Given the description of an element on the screen output the (x, y) to click on. 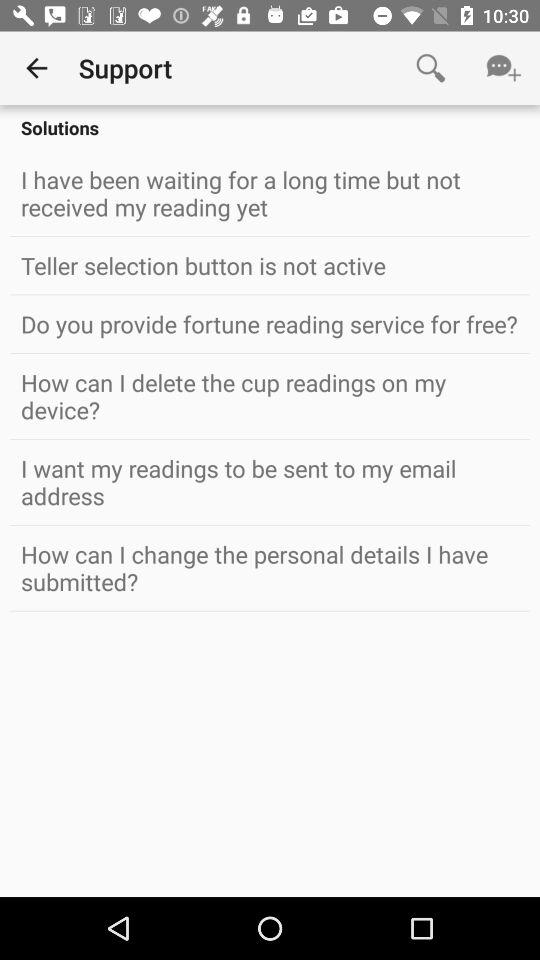
turn off the icon above how can i icon (269, 324)
